Given the description of an element on the screen output the (x, y) to click on. 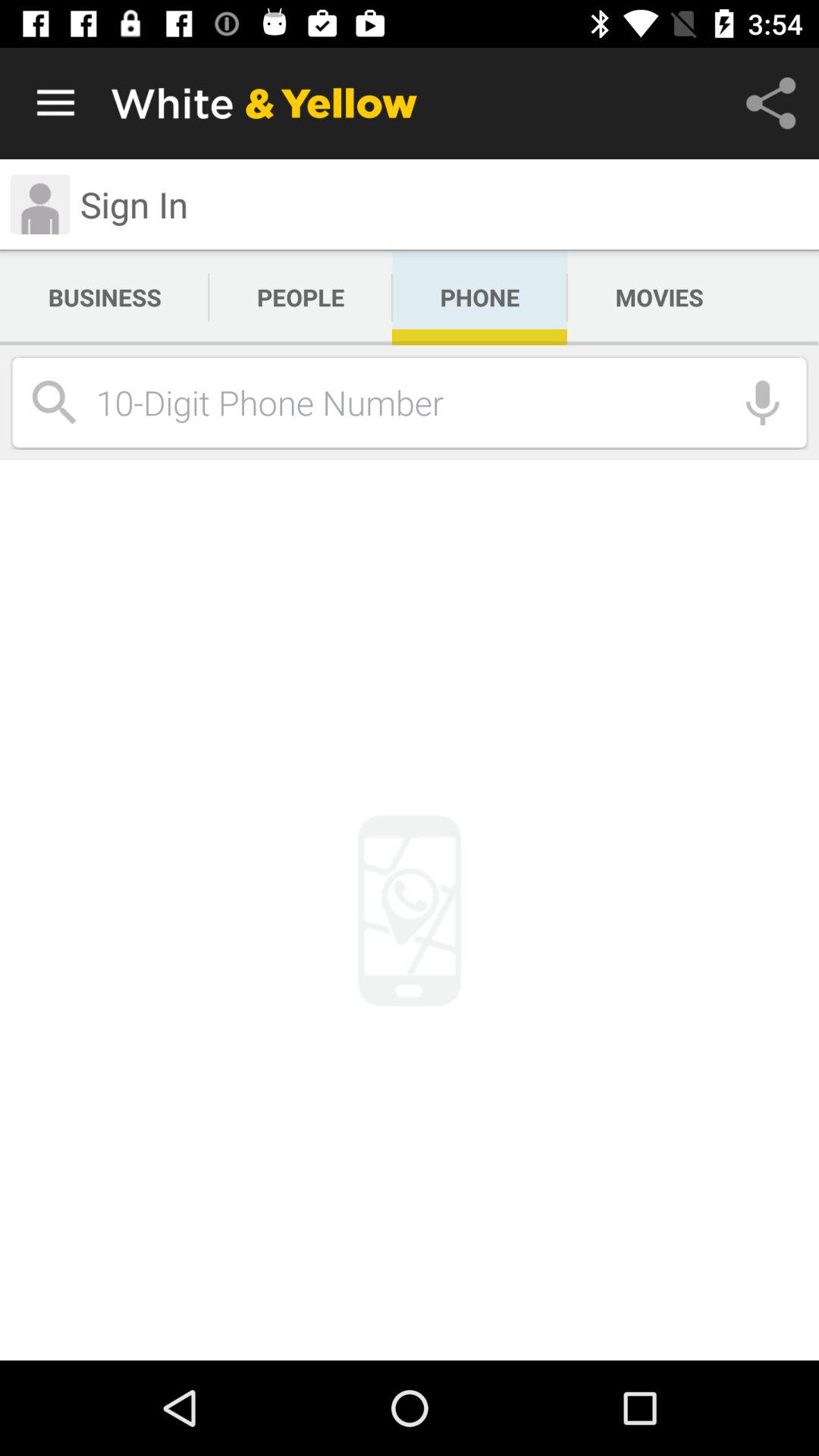
turn on item above business (39, 204)
